Given the description of an element on the screen output the (x, y) to click on. 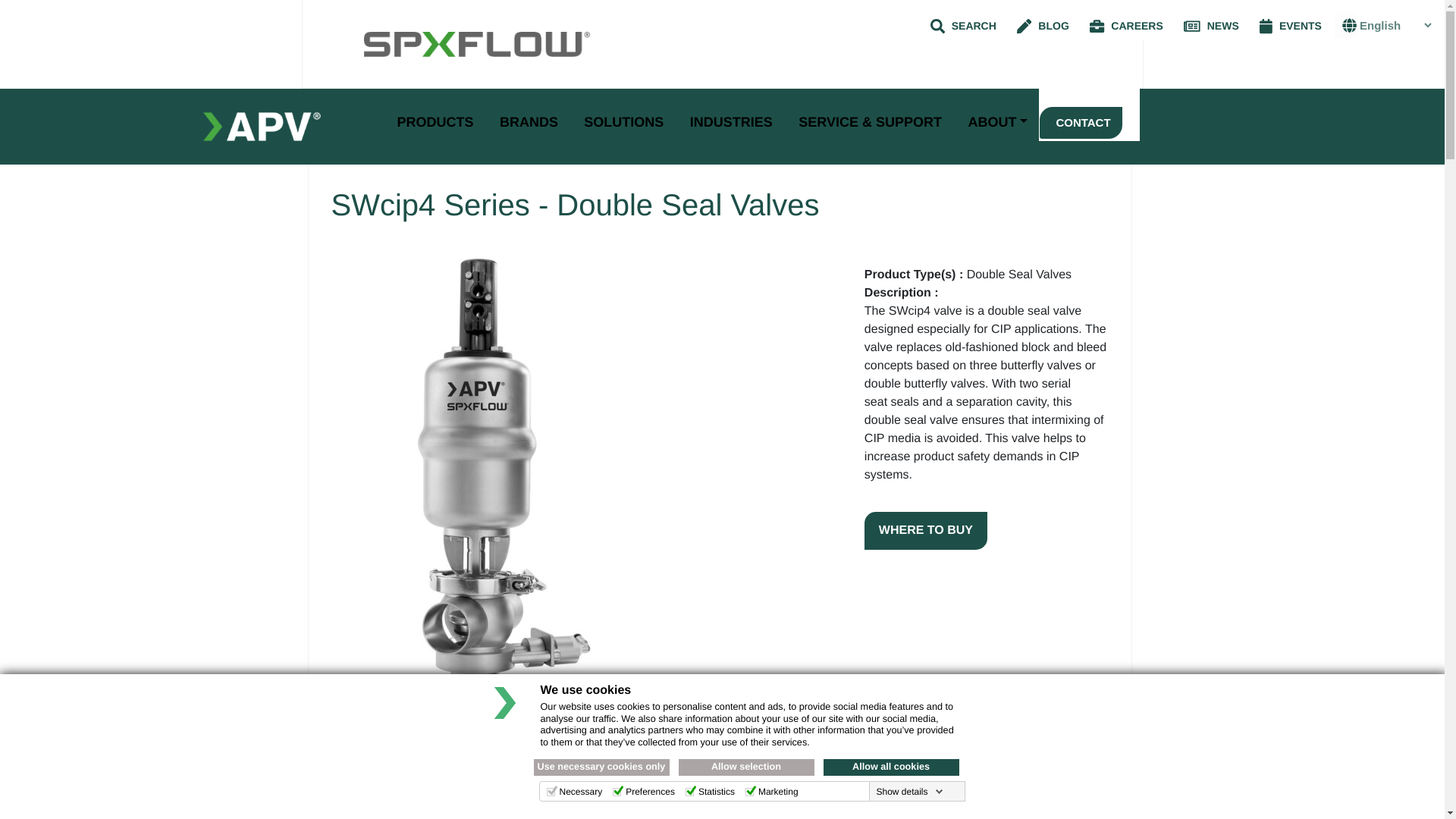
Allow all cookies (891, 767)
Use necessary cookies only (601, 767)
Show details (908, 791)
Allow selection (745, 767)
